Given the description of an element on the screen output the (x, y) to click on. 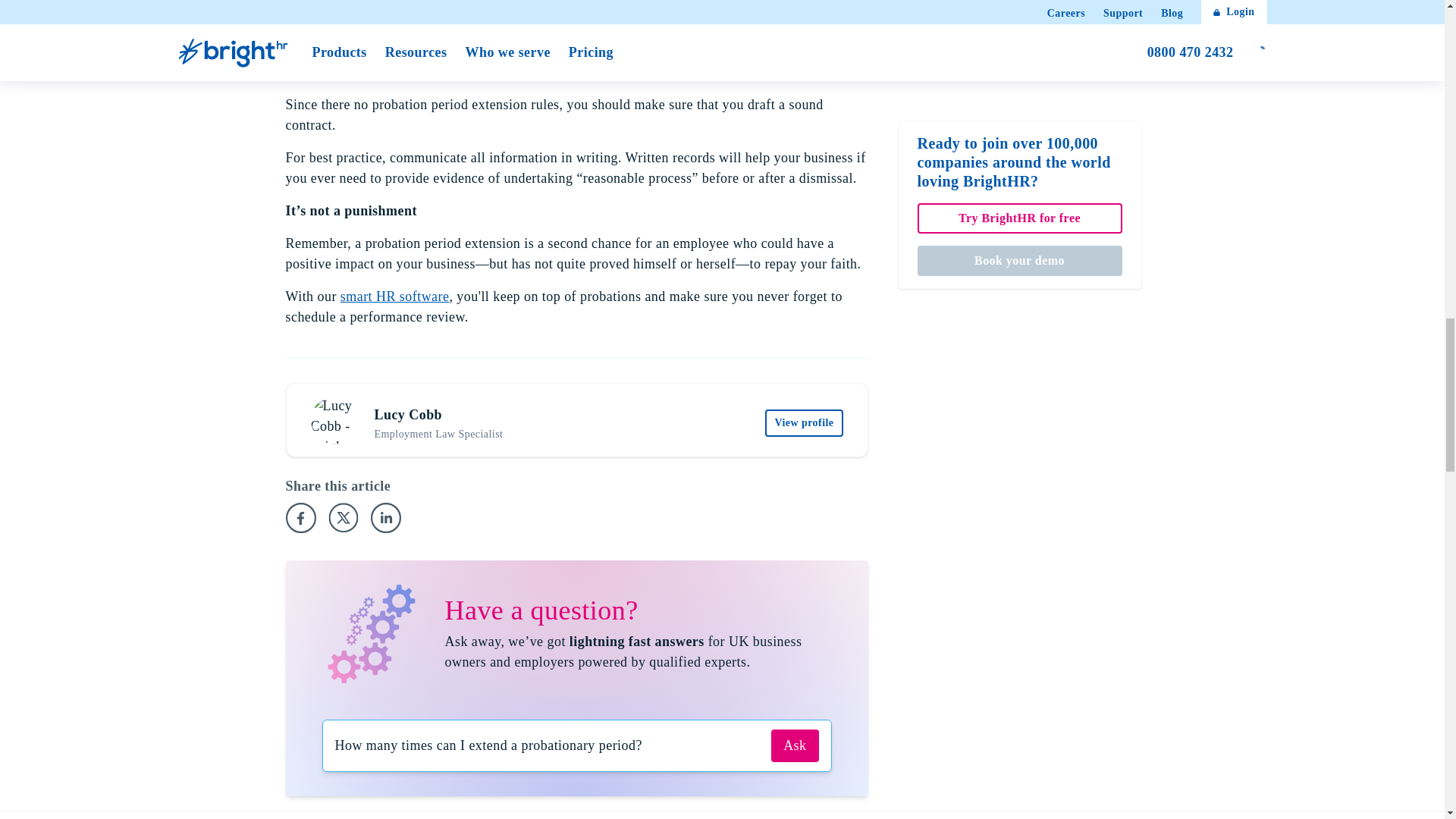
Lucy Cobb - Bright HR Expert (335, 419)
View profile (804, 422)
smart HR software (394, 296)
Ask (794, 745)
How many times can I extend a probationary period? (547, 746)
